Given the description of an element on the screen output the (x, y) to click on. 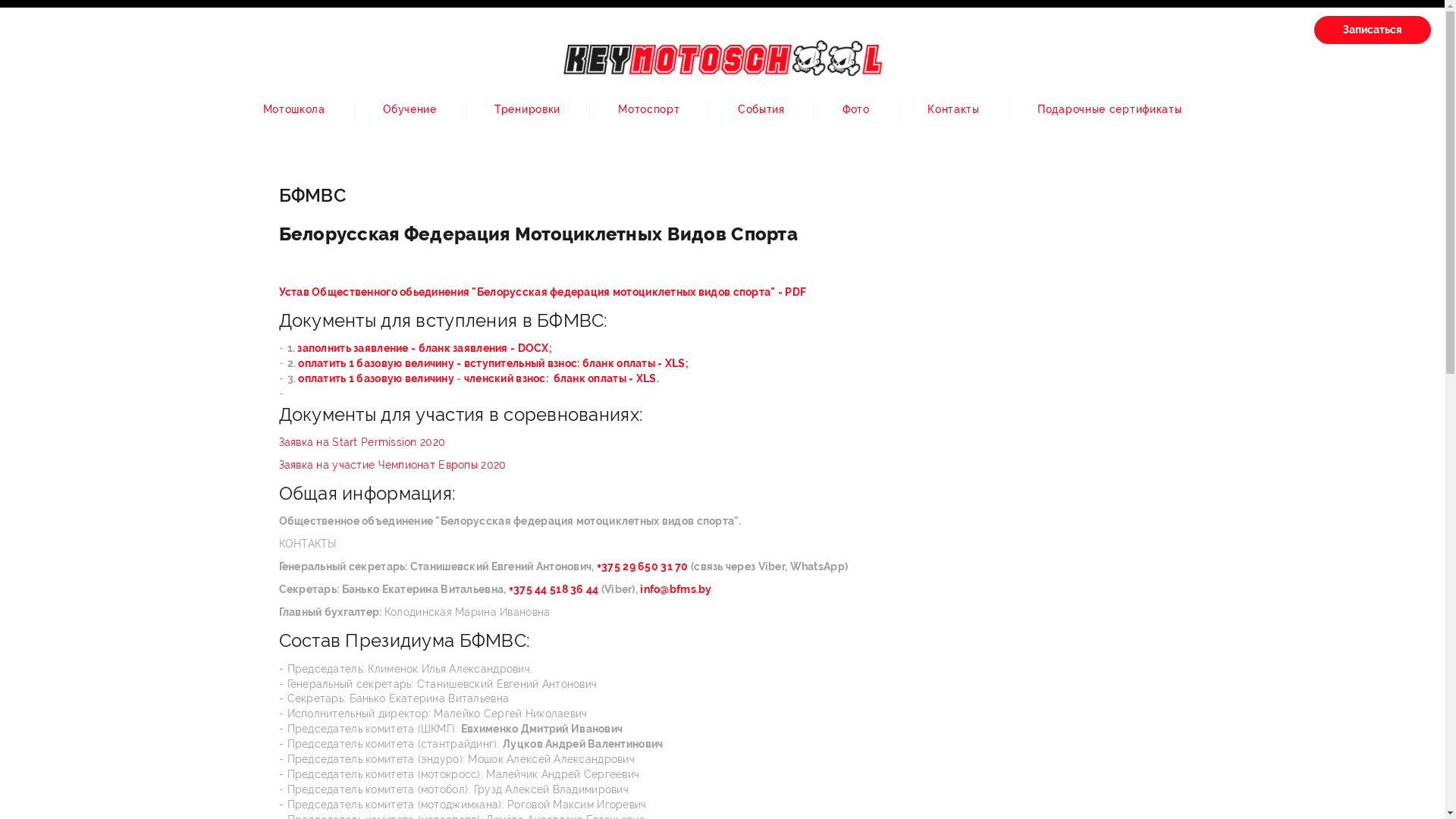
+375 29 650 31 70 Element type: text (643, 566)
+375 44 518 36 44 Element type: text (553, 589)
bfms.by Element type: text (690, 589)
  Element type: text (638, 589)
info@ Element type: text (654, 589)
